Given the description of an element on the screen output the (x, y) to click on. 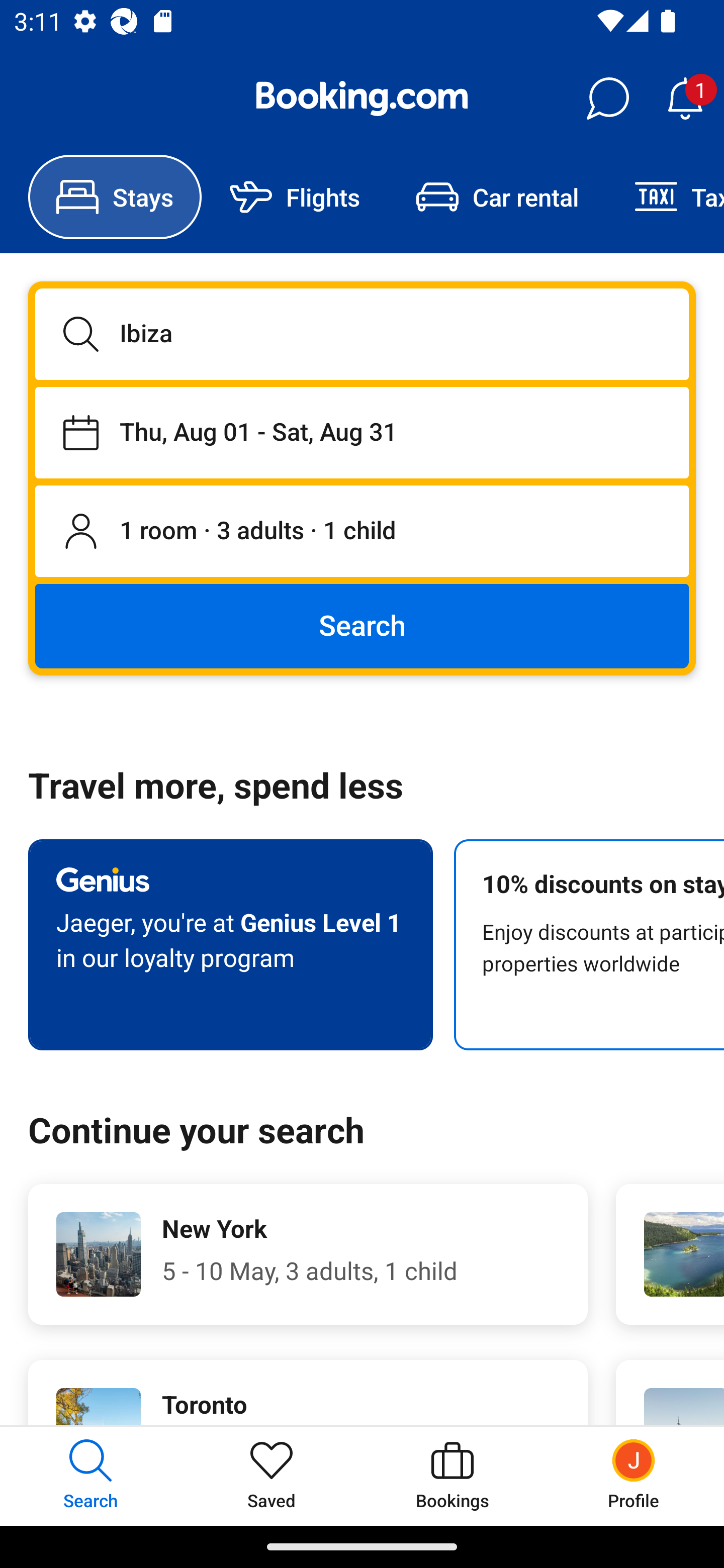
Messages (607, 98)
Notifications (685, 98)
Stays (114, 197)
Flights (294, 197)
Car rental (497, 197)
Taxi (665, 197)
Ibiza (361, 333)
Staying from Thu, Aug 01 until Sat, Aug 31 (361, 432)
1 room, 3 adults, 1 child (361, 531)
Search (361, 625)
New York 5 - 10 May, 3 adults, 1 child (307, 1253)
Saved (271, 1475)
Bookings (452, 1475)
Profile (633, 1475)
